Given the description of an element on the screen output the (x, y) to click on. 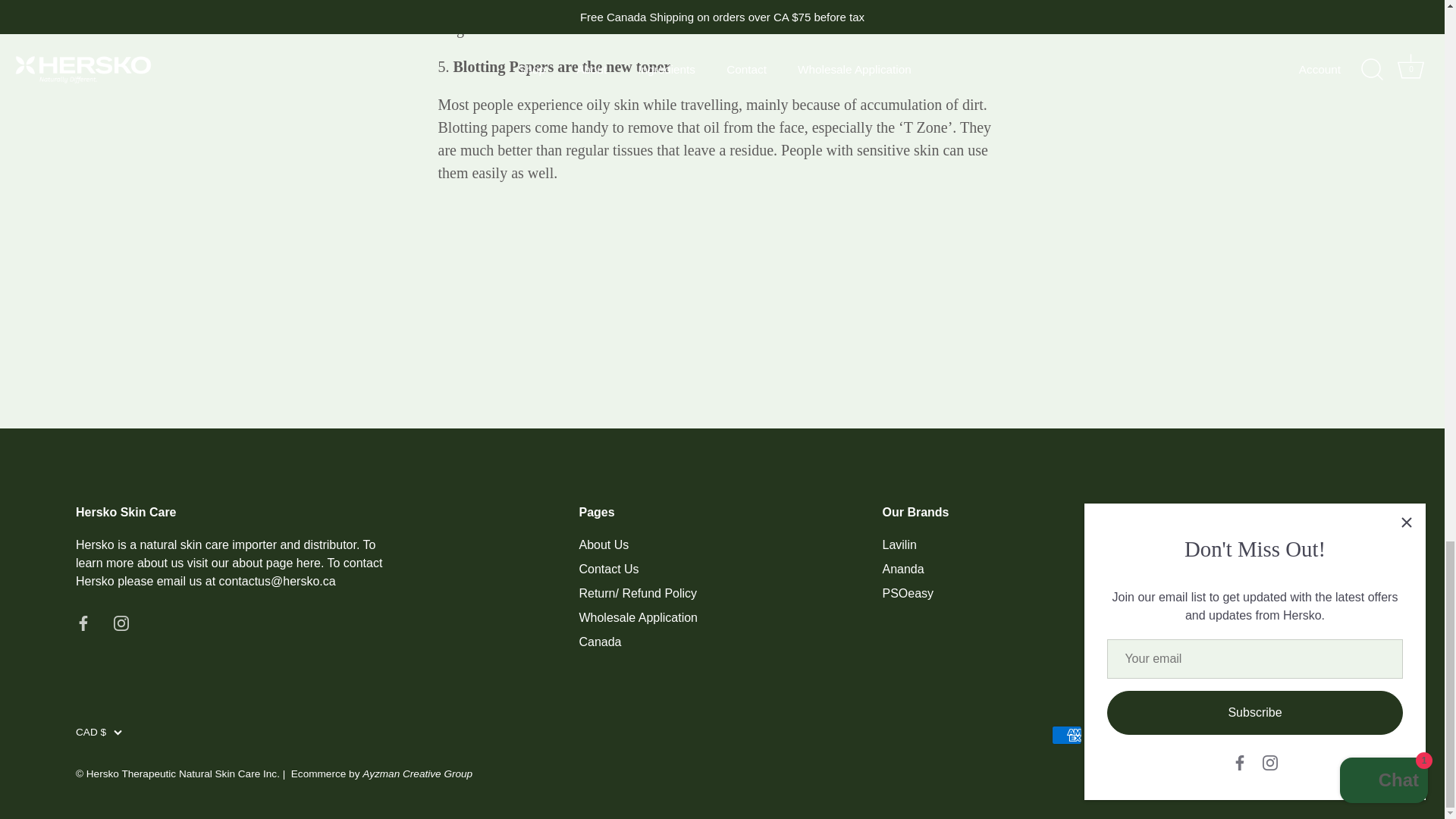
Discover (1173, 734)
Google Pay (1209, 734)
Shop Pay (1317, 734)
Instagram (121, 622)
About Hersko (275, 562)
American Express (1066, 734)
Right arrow long (1361, 612)
Apple Pay (1101, 734)
Mastercard (1245, 734)
PayPal (1281, 734)
Diners Club (1137, 734)
Visa (1353, 734)
